Given the description of an element on the screen output the (x, y) to click on. 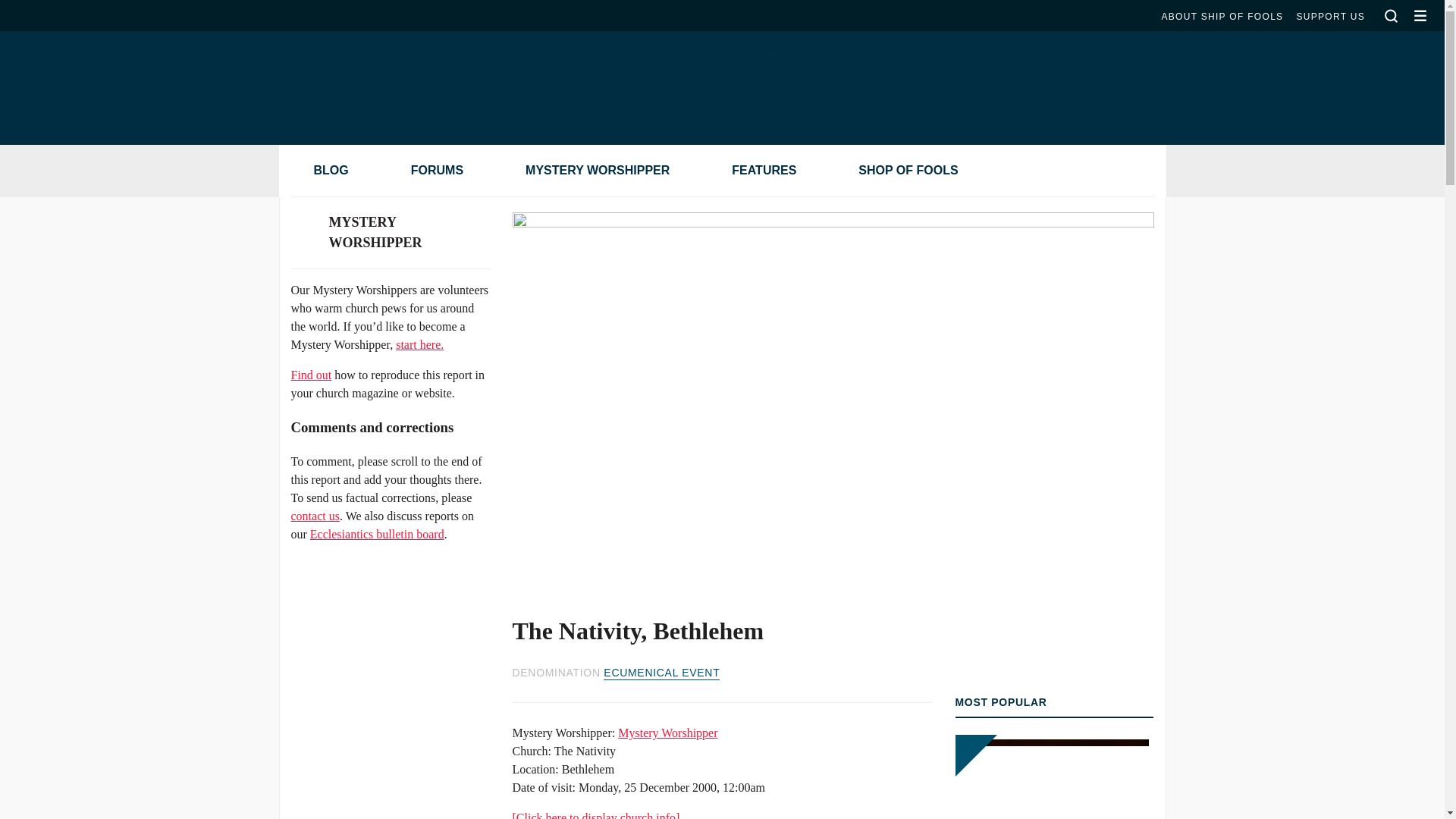
SUPPORT US (1330, 16)
Posts by Mystery Worshipper (667, 732)
start here. (420, 344)
contact us (315, 515)
Ship of Fools (721, 76)
FORUMS (429, 170)
Ecclesiantics bulletin board (377, 533)
MYSTERY WORSHIPPER (590, 170)
Mystery Worshipper (667, 732)
ECUMENICAL EVENT (661, 673)
